Given the description of an element on the screen output the (x, y) to click on. 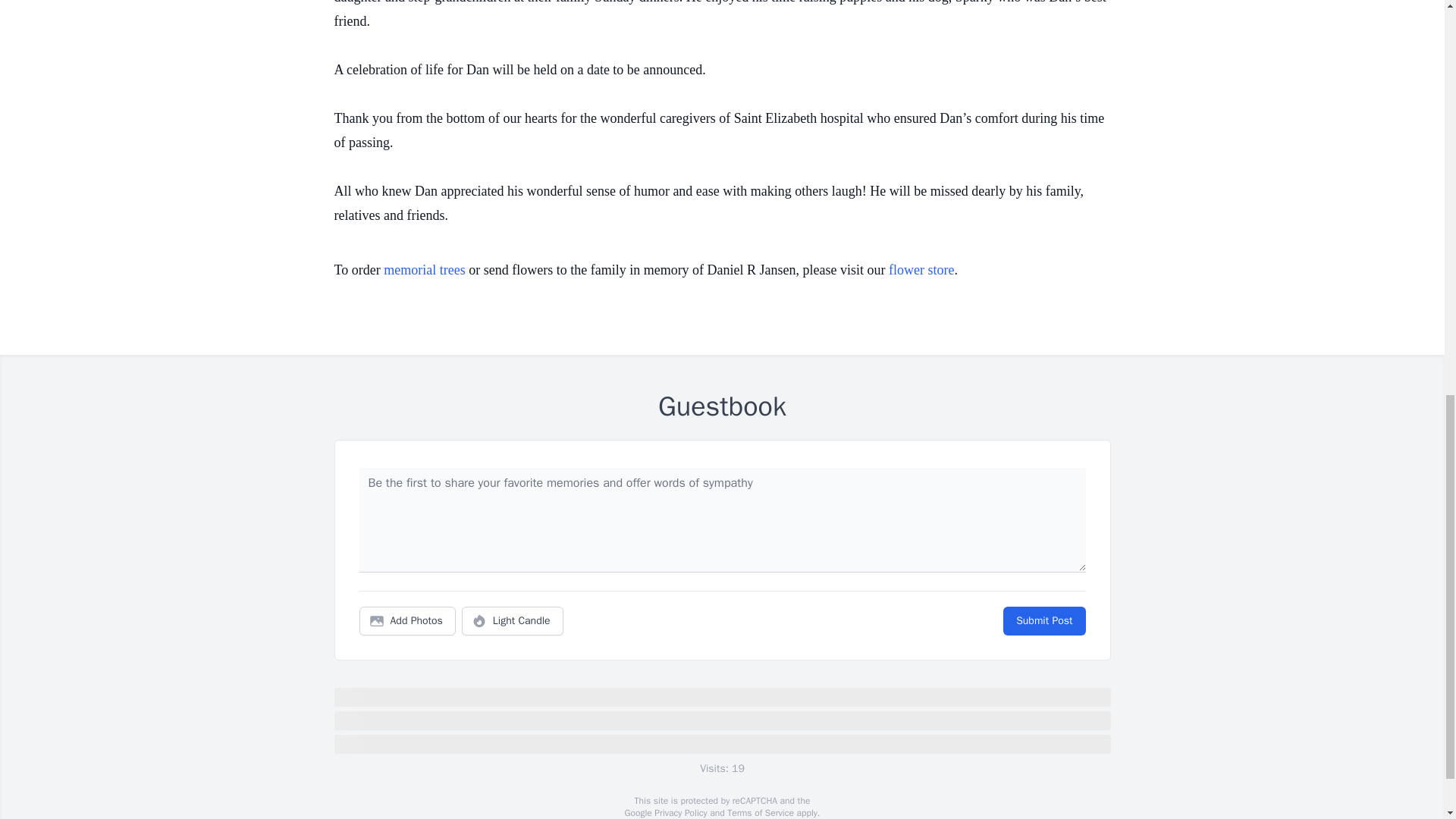
Submit Post (1043, 620)
Add Photos (407, 620)
Privacy Policy (679, 812)
flower store (920, 269)
memorial trees (424, 269)
Terms of Service (759, 812)
Light Candle (512, 620)
